Given the description of an element on the screen output the (x, y) to click on. 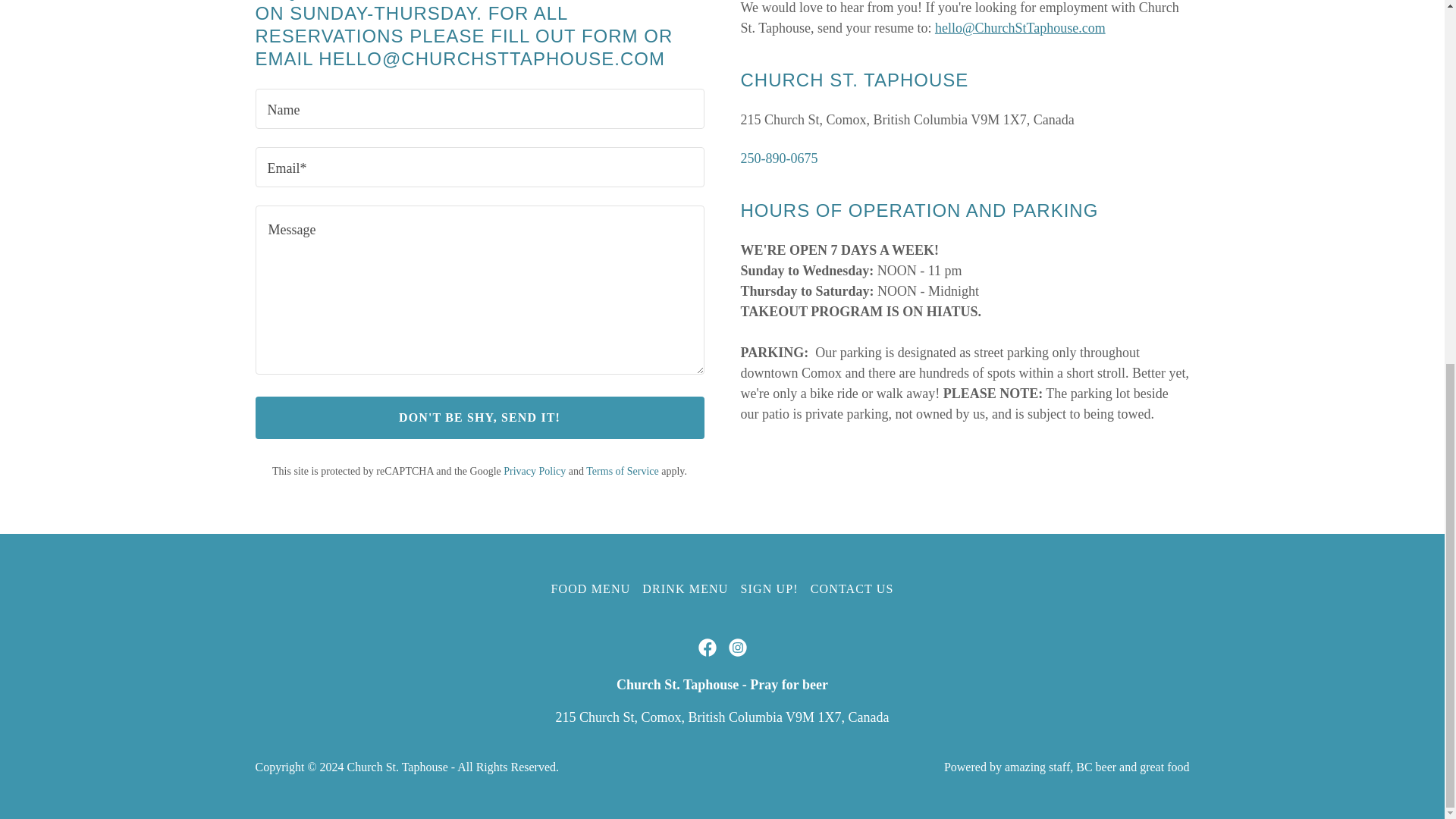
FOOD MENU (590, 588)
Privacy Policy (534, 471)
DON'T BE SHY, SEND IT! (478, 417)
DRINK MENU (684, 588)
Terms of Service (622, 471)
SIGN UP! (768, 588)
CONTACT US (852, 588)
250-890-0675 (777, 158)
